Given the description of an element on the screen output the (x, y) to click on. 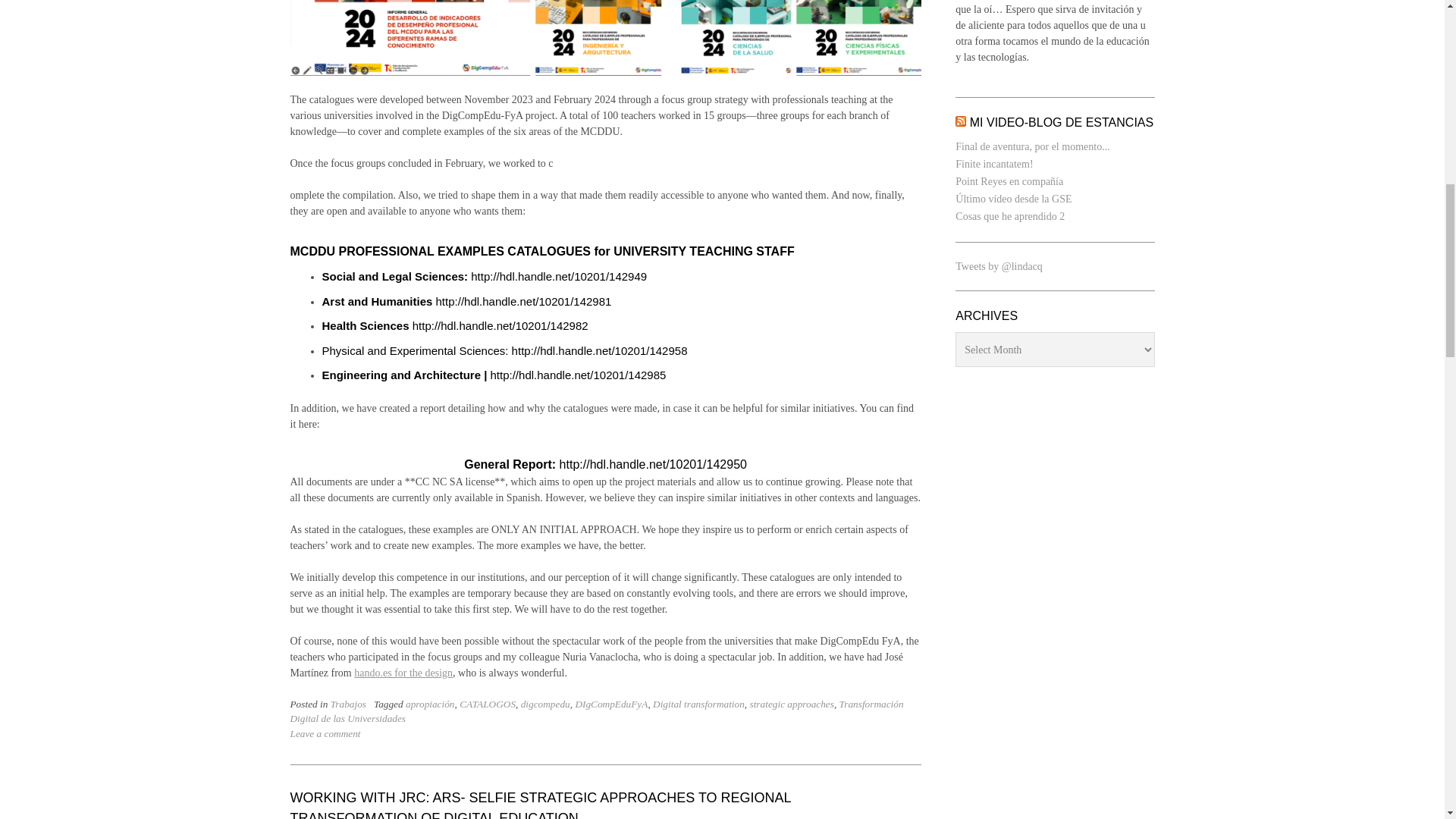
Leave a comment (324, 733)
Digital transformation (698, 703)
Trabajos (348, 703)
hando.es for the design (402, 672)
digcompedu (545, 703)
strategic approaches (790, 703)
CATALOGOS (487, 703)
DIgCompEduFyA (611, 703)
